Given the description of an element on the screen output the (x, y) to click on. 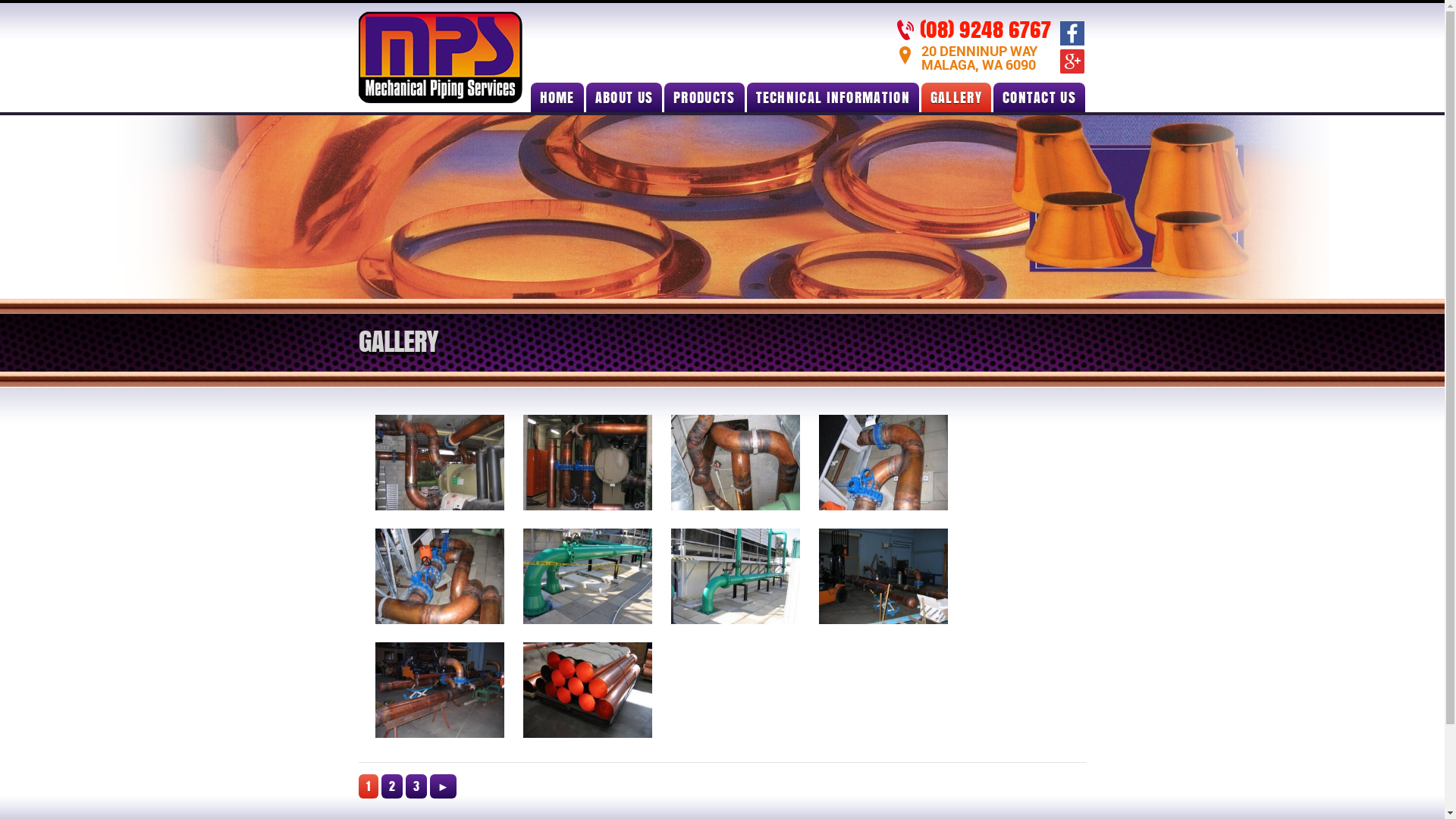
img_0145 Element type: hover (883, 576)
  Element type: hover (439, 462)
  Element type: hover (439, 576)
GALLERY Element type: text (956, 97)
img_0092 Element type: hover (734, 576)
  Element type: hover (883, 462)
2 Element type: text (390, 786)
img_0594 Element type: hover (734, 462)
3 Element type: text (415, 786)
img_0091 Element type: hover (587, 576)
  Element type: hover (734, 576)
img_0218 Element type: hover (587, 689)
TECHNICAL INFORMATION Element type: text (832, 97)
  Element type: hover (883, 576)
  Element type: hover (734, 462)
  Element type: hover (587, 689)
CONTACT US Element type: text (1039, 97)
ecu-joondalup-015 Element type: hover (587, 462)
ABOUT US Element type: text (624, 97)
img_0146 Element type: hover (438, 689)
ecu-joondalup-011 Element type: hover (438, 462)
(08) 9248 6767 Element type: text (984, 28)
Mechanical Piping Services Element type: hover (439, 99)
  Element type: hover (587, 576)
HOME Element type: text (556, 97)
img_0604 Element type: hover (438, 576)
  Element type: hover (587, 462)
  Element type: hover (439, 689)
img_0603 Element type: hover (883, 462)
PRODUCTS Element type: text (703, 97)
